Given the description of an element on the screen output the (x, y) to click on. 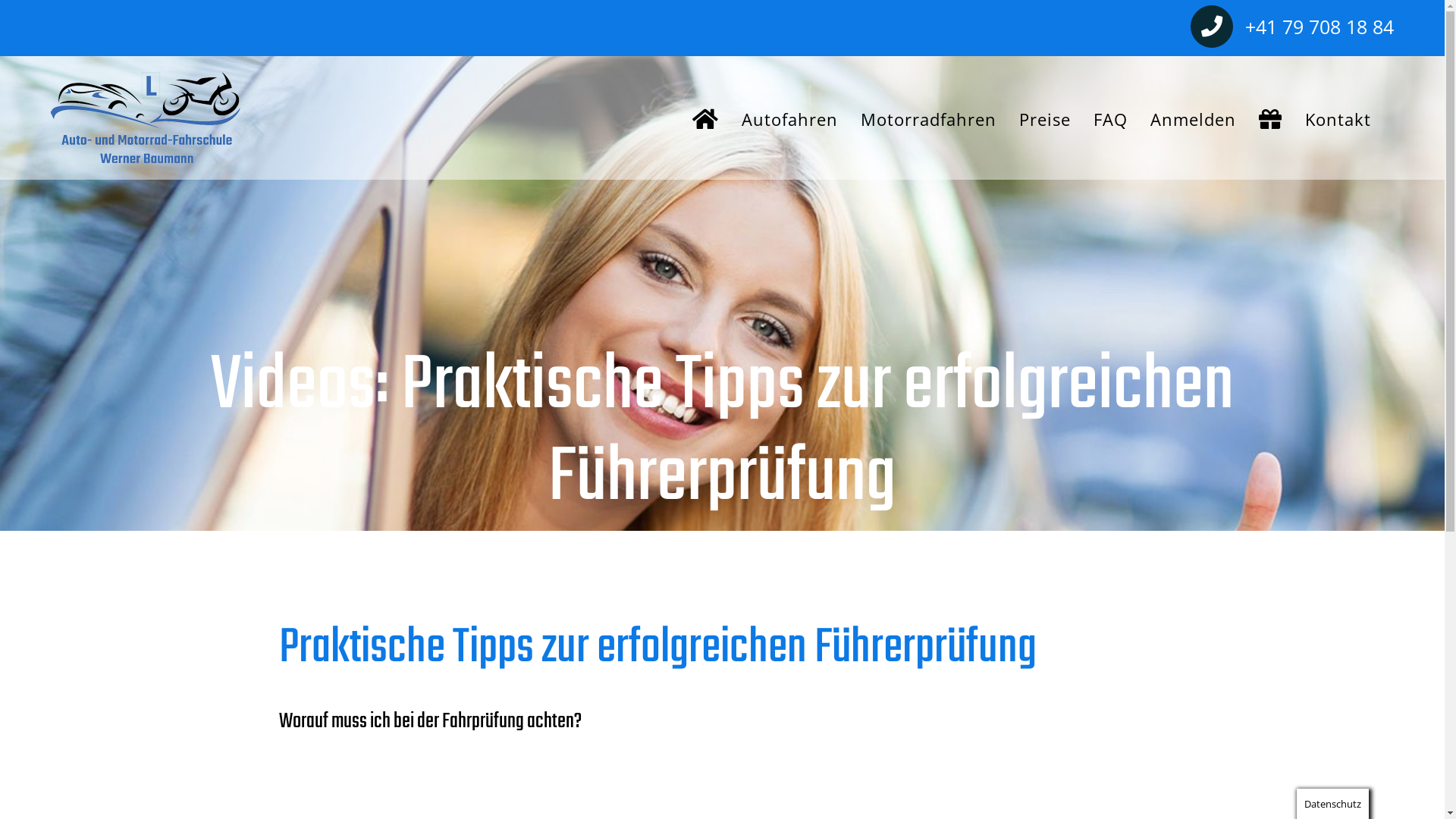
Preise Element type: text (1044, 117)
Autofahren Element type: text (789, 117)
Motorradfahren Element type: text (928, 117)
Kontakt Element type: text (1338, 117)
FAQ Element type: text (1110, 117)
+41 79 708 18 84 Element type: text (1319, 28)
Anmelden Element type: text (1193, 117)
